Given the description of an element on the screen output the (x, y) to click on. 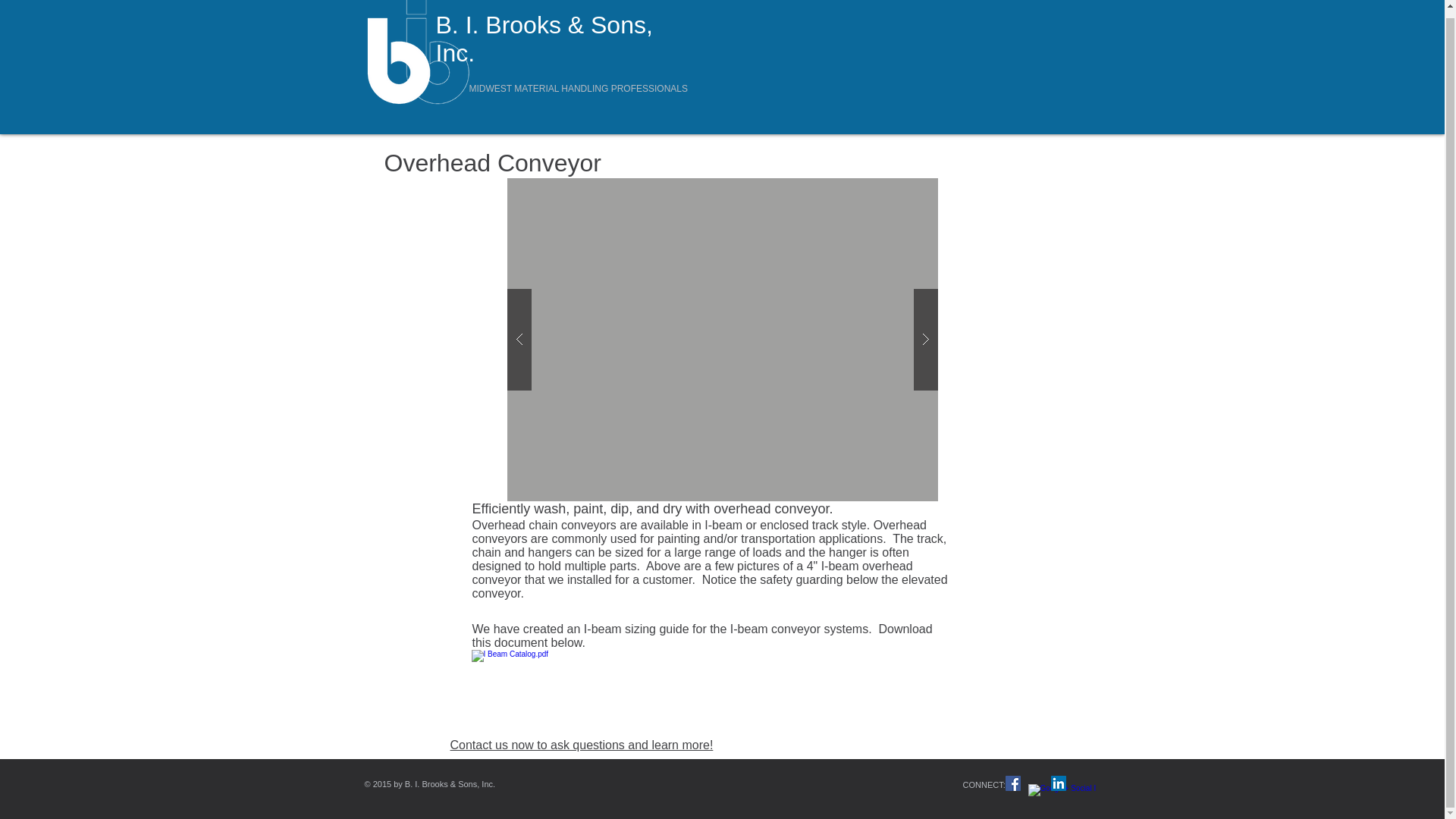
I Beam Catalog.pdf (532, 694)
BIB Logo no text white with transparent bg.gif (422, 53)
Contact us now to ask questions and learn more! (581, 744)
